Given the description of an element on the screen output the (x, y) to click on. 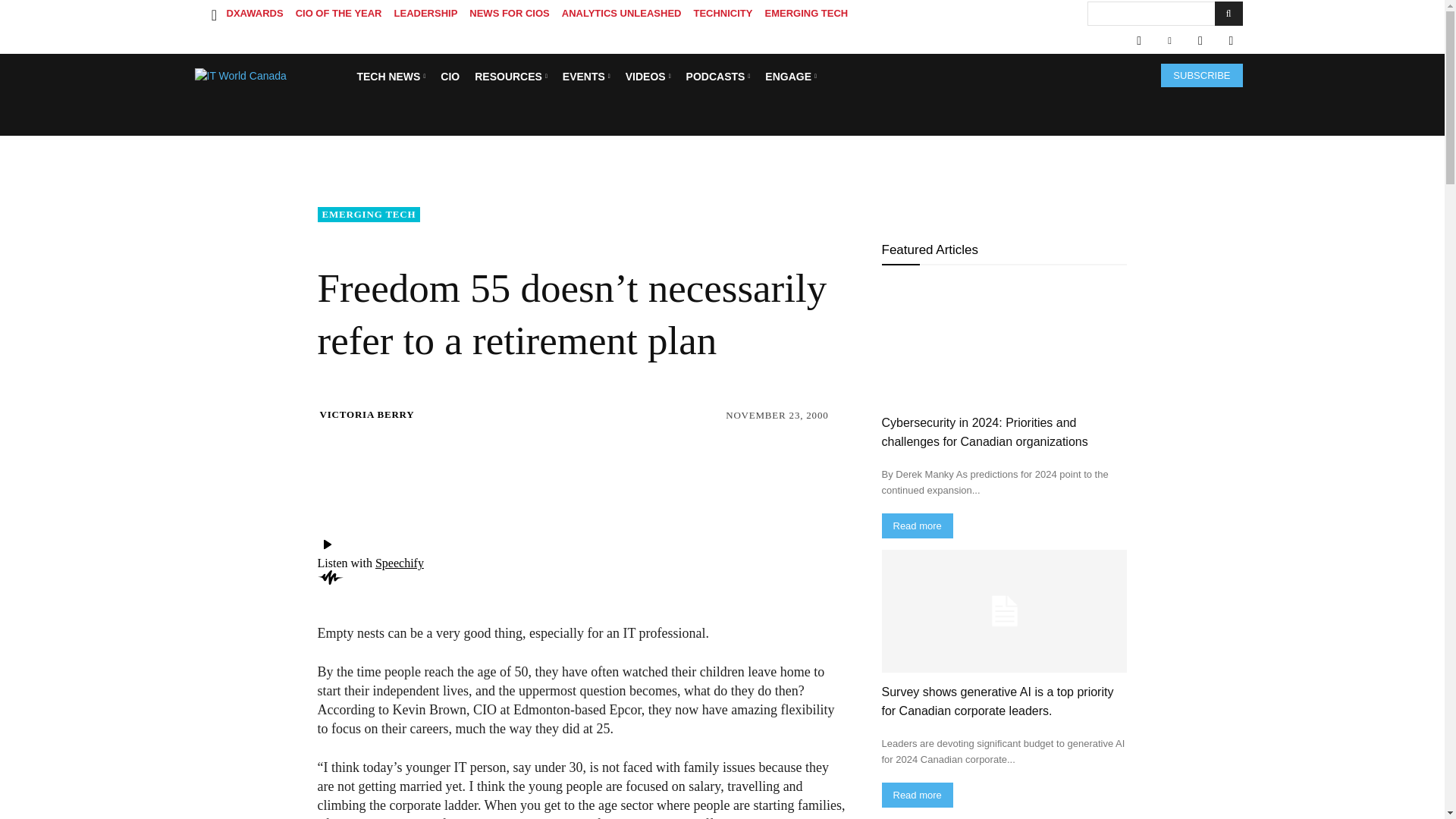
Facebook (1138, 40)
IT World Canada - IT News (269, 76)
Youtube (1230, 40)
Linkedin (1168, 40)
Twitter (1200, 40)
